Given the description of an element on the screen output the (x, y) to click on. 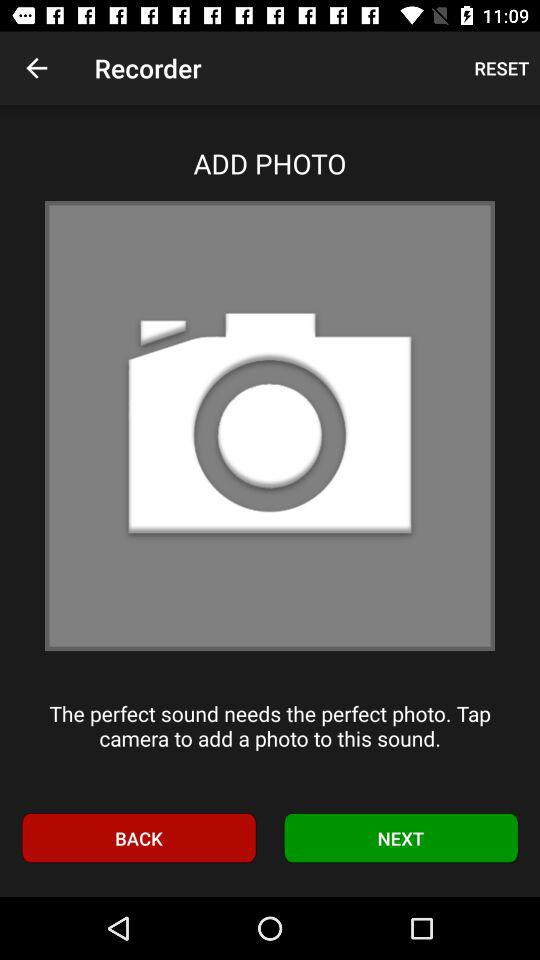
select the item to the left of next (138, 838)
